Given the description of an element on the screen output the (x, y) to click on. 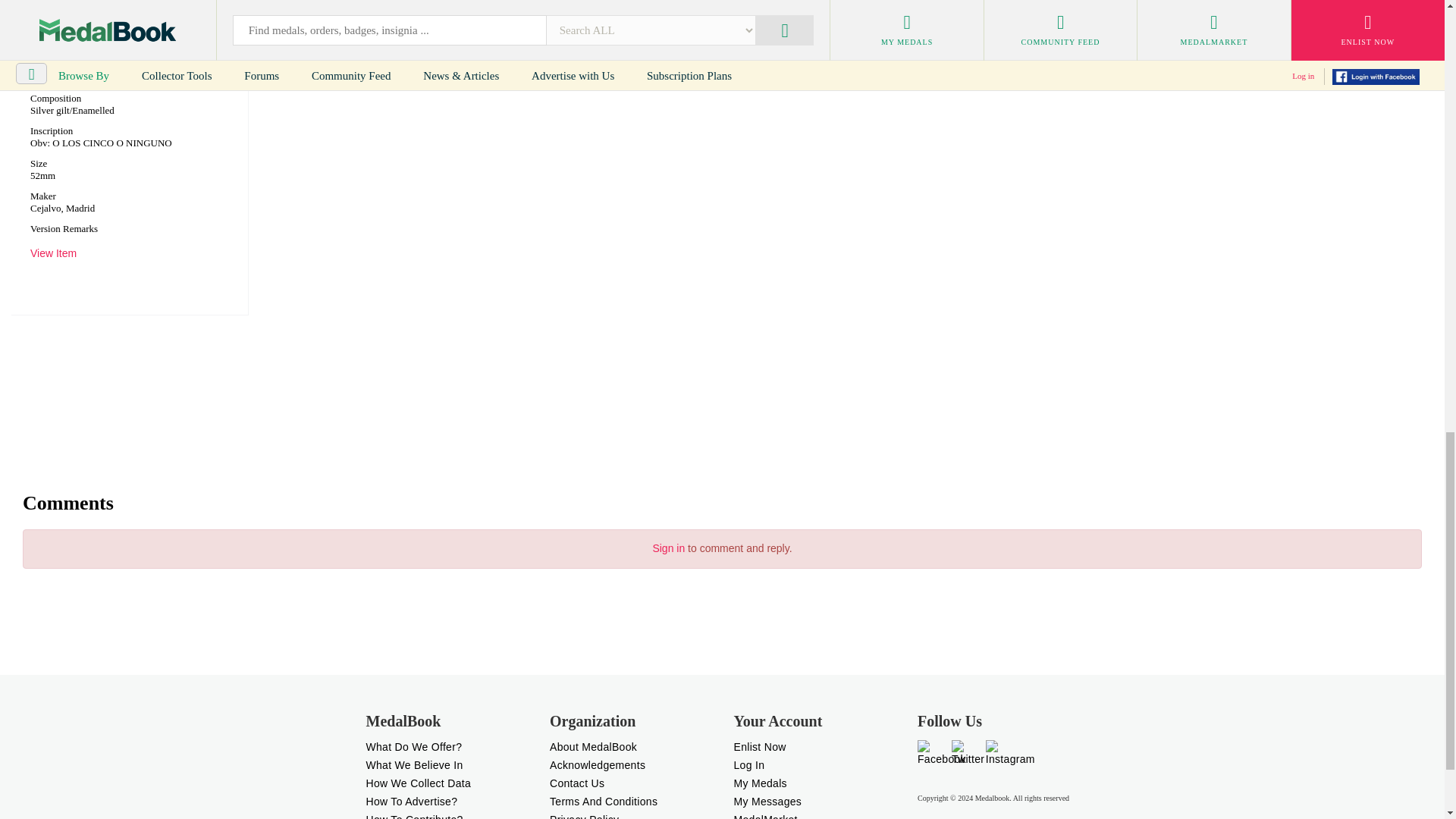
ORDER OF THE FIVE VOLCANOES, GRAND CROSS (122, 30)
Terms and Conditions (604, 801)
Contact Us (577, 783)
How To Advertise? (411, 801)
View Item (53, 253)
Sign in (668, 548)
How we Collect Data (417, 783)
How We Collect Data (417, 783)
Acknowledgements (597, 765)
What Do We Offer? (413, 746)
What We Believe In (414, 765)
What we believe In (414, 765)
How to Advertise? (411, 801)
About MedalBook (593, 746)
What do we offer? (413, 746)
